Given the description of an element on the screen output the (x, y) to click on. 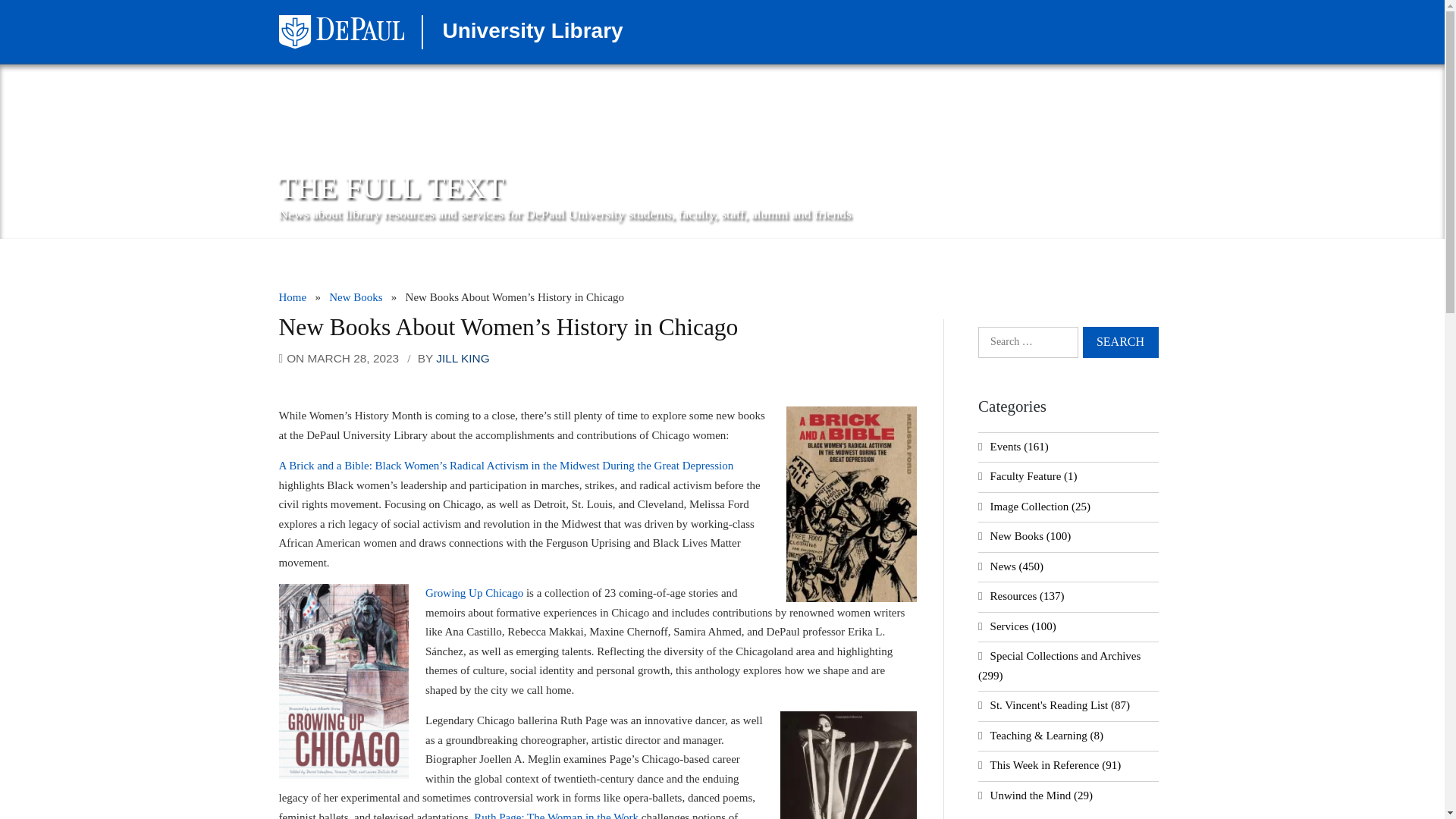
St. Vincent's Reading List (1049, 705)
Special Collections and Archives (1065, 655)
Image Collection (1029, 506)
Faculty Feature (1025, 476)
Ruth Page: The Woman in the Work (556, 815)
University Library (532, 30)
JILL KING (462, 358)
Search (1120, 341)
Home (293, 297)
THE FULL TEXT (392, 187)
This Week in Reference (1044, 765)
MARCH 28, 2023 (352, 358)
News (1003, 565)
Growing Up Chicago (473, 592)
Services (1009, 625)
